Given the description of an element on the screen output the (x, y) to click on. 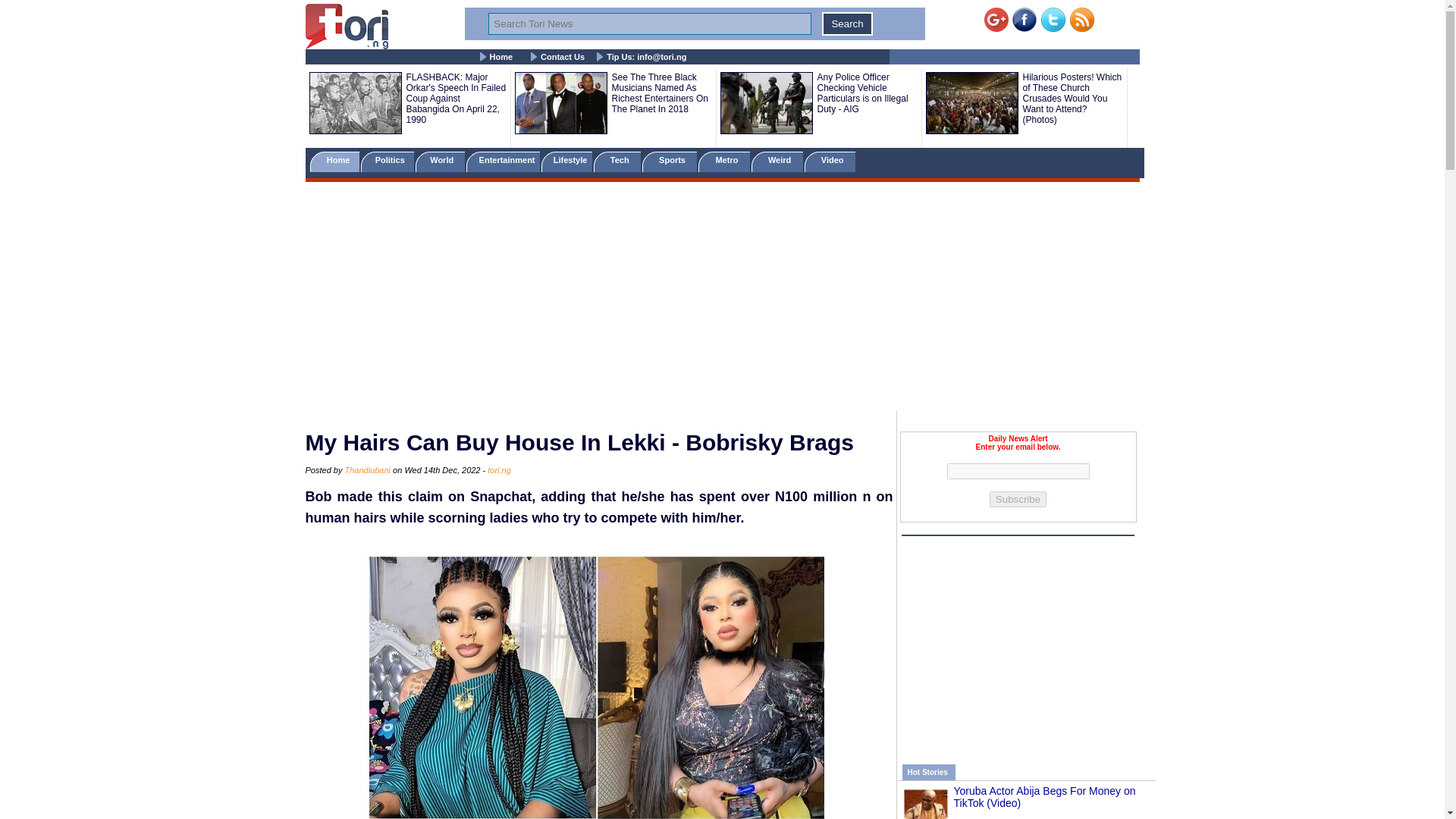
    Home     (333, 161)
Advertisement (1017, 642)
Click To Search (847, 24)
    Tech      (617, 161)
Search Tori News (648, 24)
Search (847, 24)
Subscribe (1018, 498)
   World      (439, 161)
  Entertainment   (501, 161)
Home (501, 56)
  Lifestyle   (566, 161)
    Weird      (777, 161)
Search (847, 24)
